Given the description of an element on the screen output the (x, y) to click on. 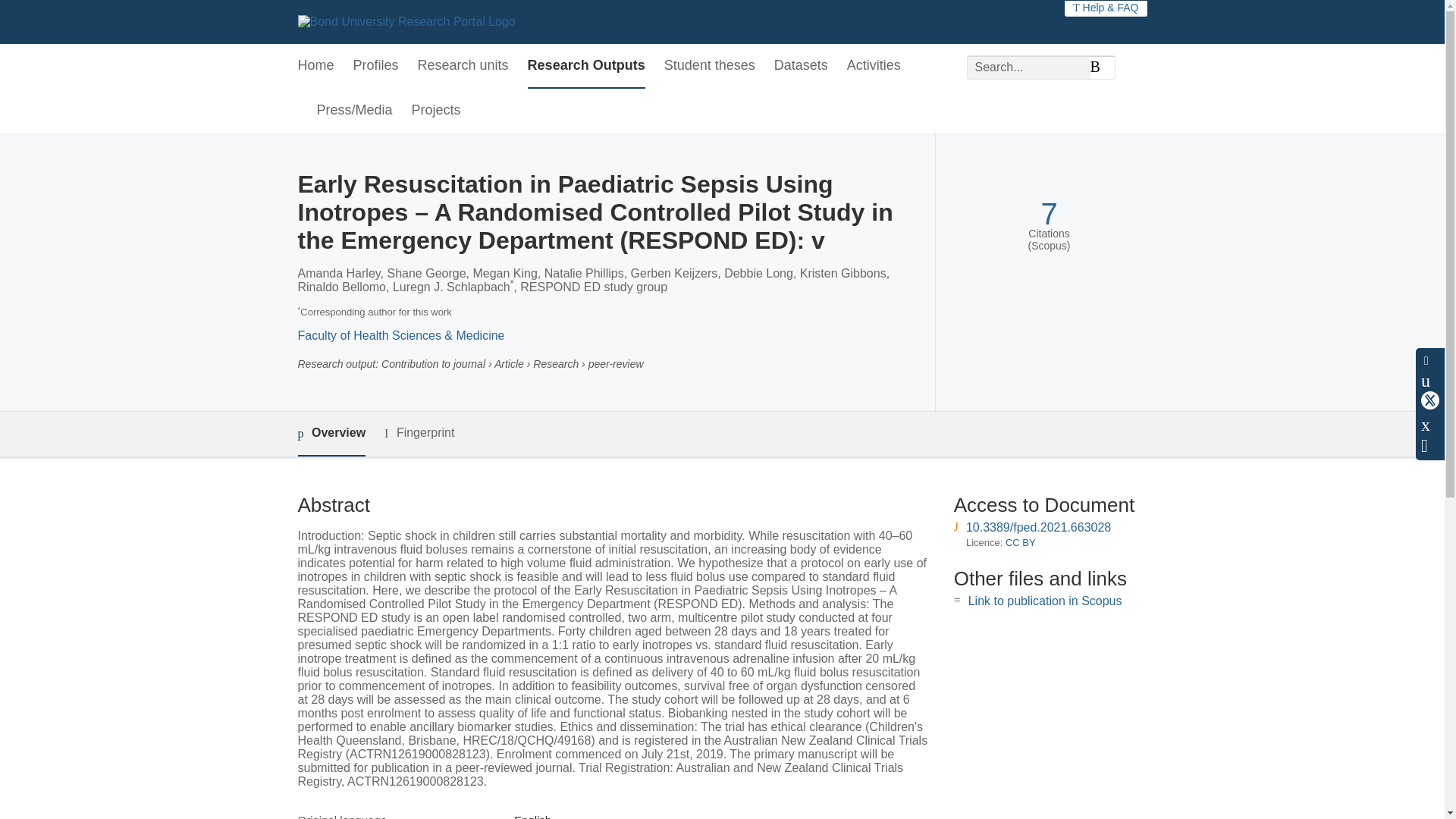
Student theses (709, 66)
Activities (874, 66)
Link to publication in Scopus (1045, 600)
Overview (331, 433)
Fingerprint (419, 433)
Profiles (375, 66)
CC BY (1020, 542)
Research Outputs (586, 66)
Research units (462, 66)
Bond University Research Portal Home (406, 21)
